Given the description of an element on the screen output the (x, y) to click on. 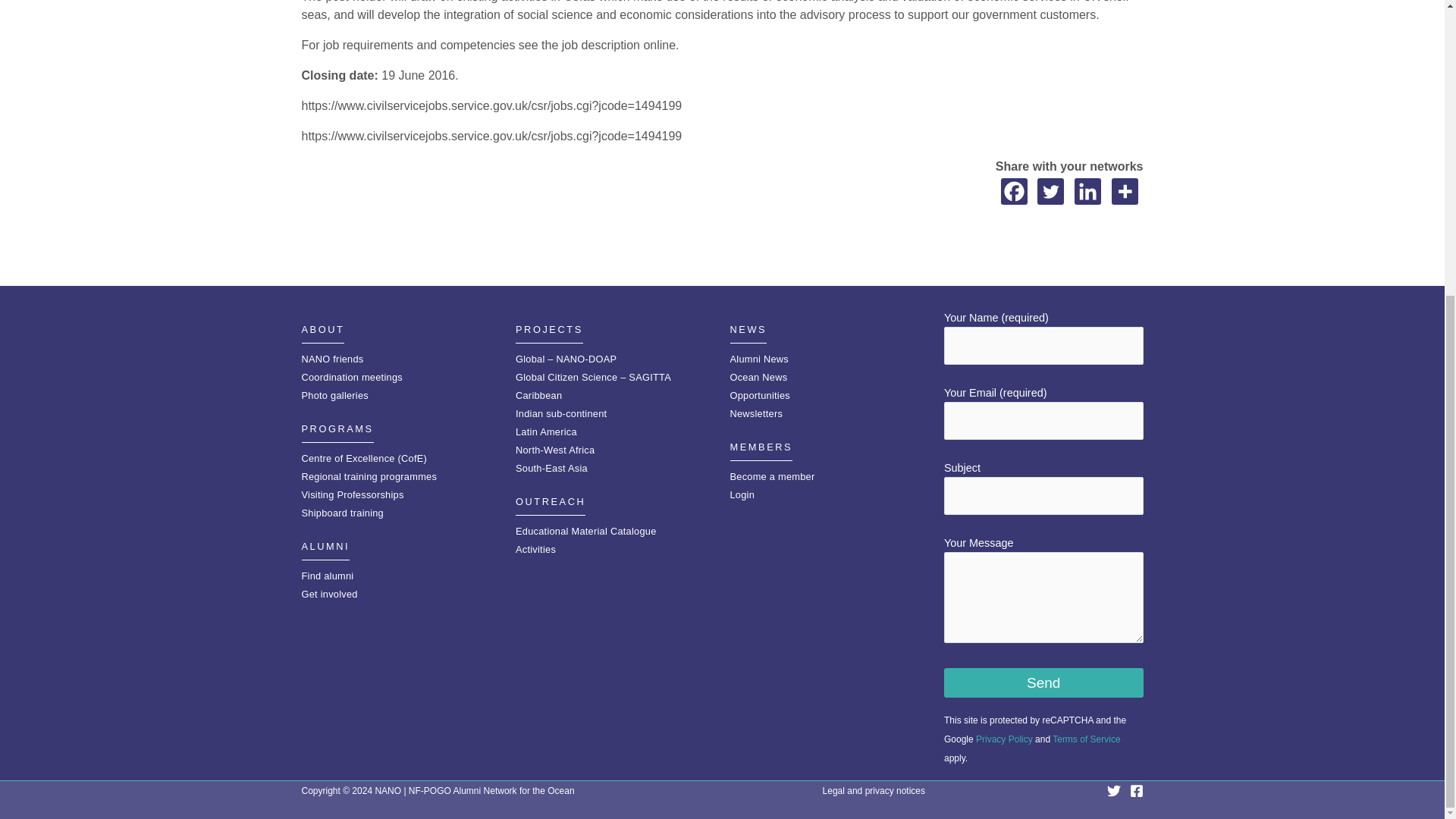
More (1125, 191)
Facebook (1014, 191)
Twitter (1050, 191)
Send (1042, 682)
Linkedin (1087, 191)
